Given the description of an element on the screen output the (x, y) to click on. 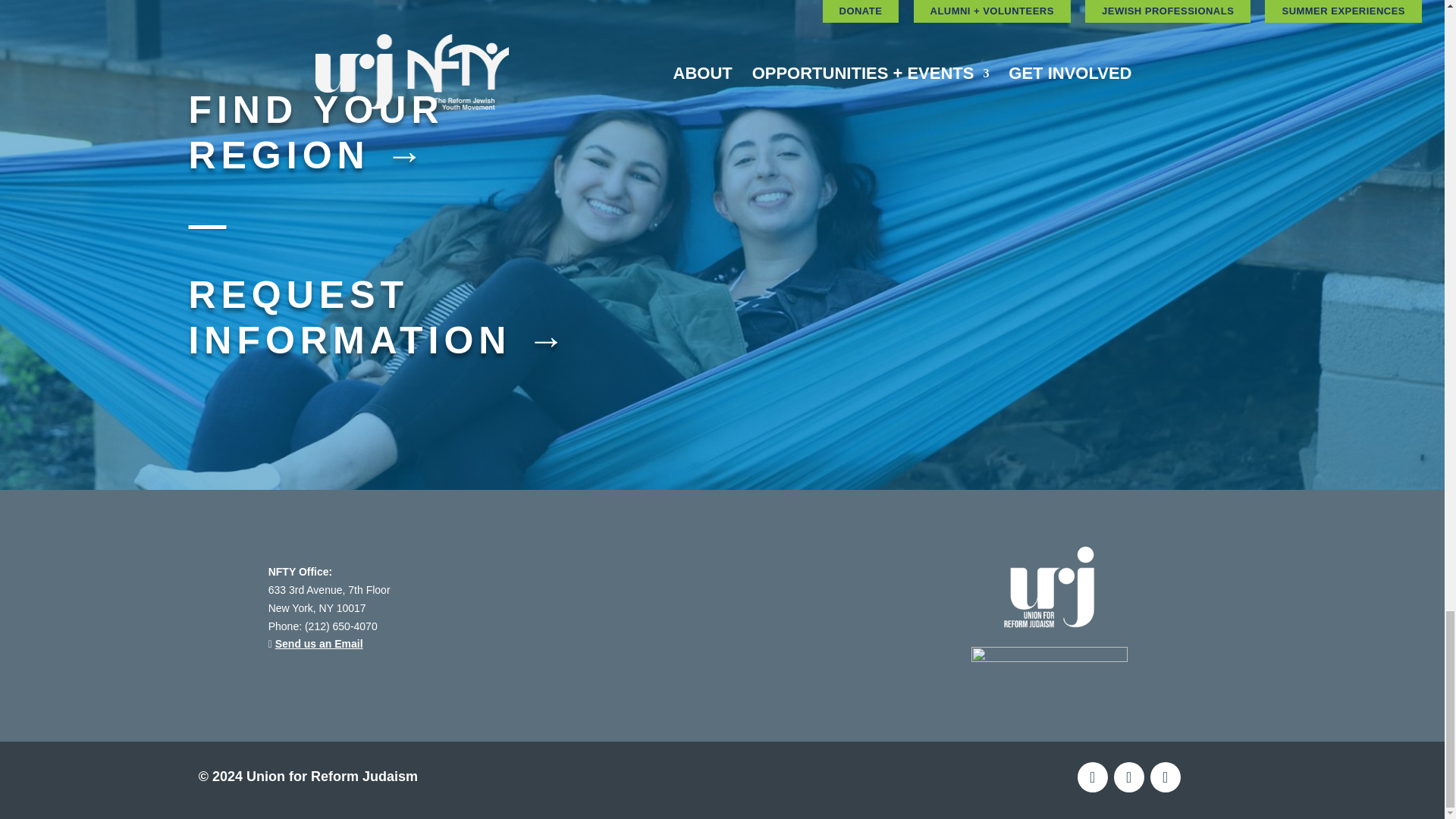
FIND YOUR (315, 117)
Follow on Instagram (1165, 777)
Follow on Facebook (1092, 777)
Follow on Twitter (1128, 777)
